Given the description of an element on the screen output the (x, y) to click on. 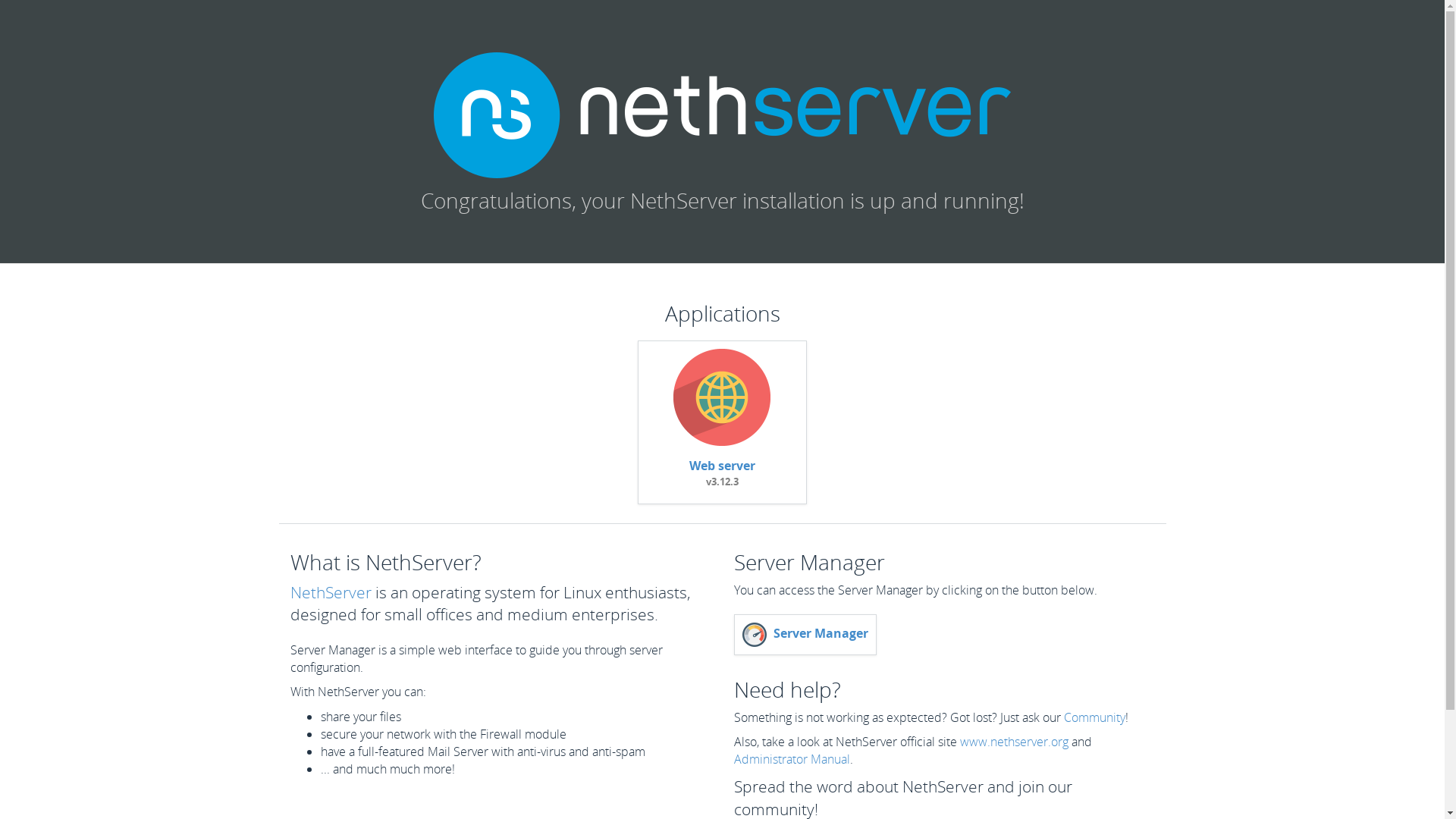
Server Manager Element type: text (805, 632)
Administrator Manual Element type: text (792, 758)
www.nethserver.org Element type: text (1014, 741)
Community Element type: text (1093, 717)
NethServer Element type: text (329, 591)
Web server
v3.12.3 Element type: text (721, 480)
